Given the description of an element on the screen output the (x, y) to click on. 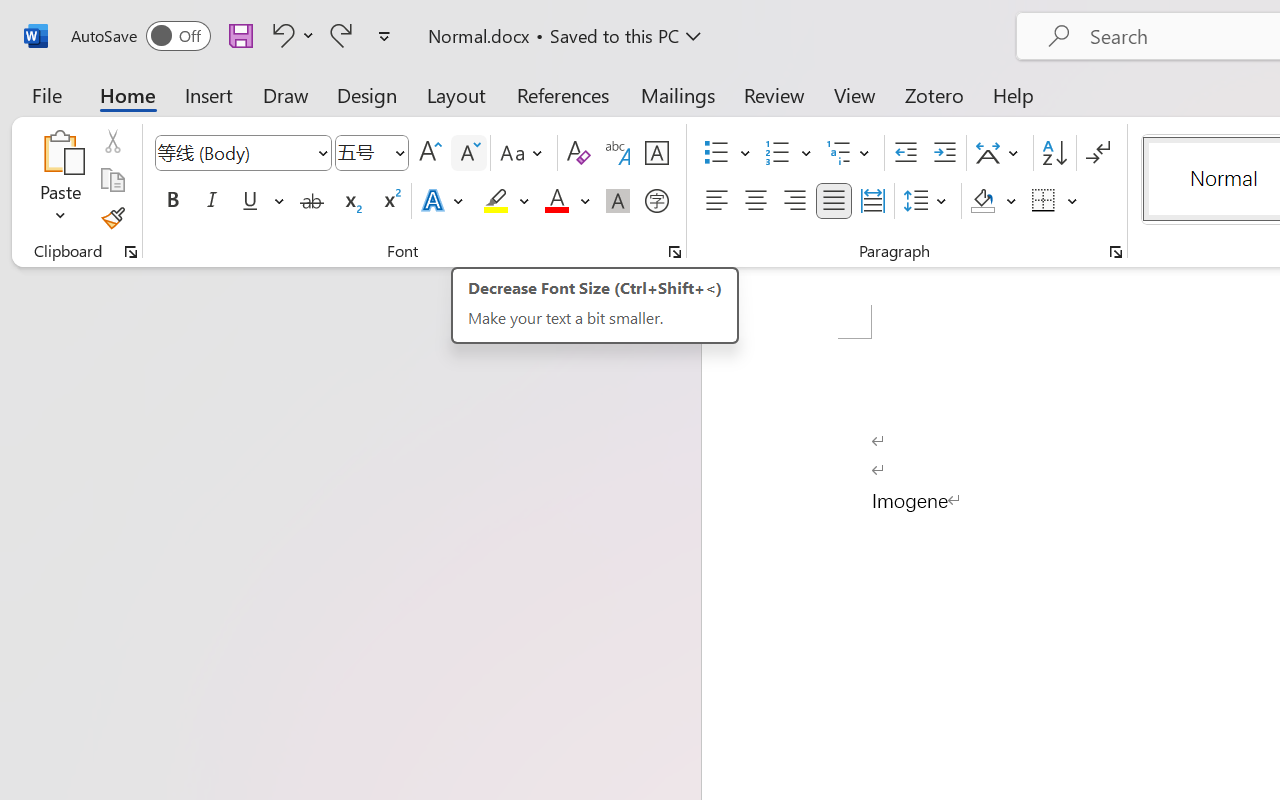
Justify (834, 201)
Character Shading (618, 201)
Text Effects and Typography (444, 201)
Undo Typing (280, 35)
Multilevel List (850, 153)
Bold (172, 201)
Decrease Indent (906, 153)
Shrink Font (468, 153)
Align Left (716, 201)
Redo Style (341, 35)
